Given the description of an element on the screen output the (x, y) to click on. 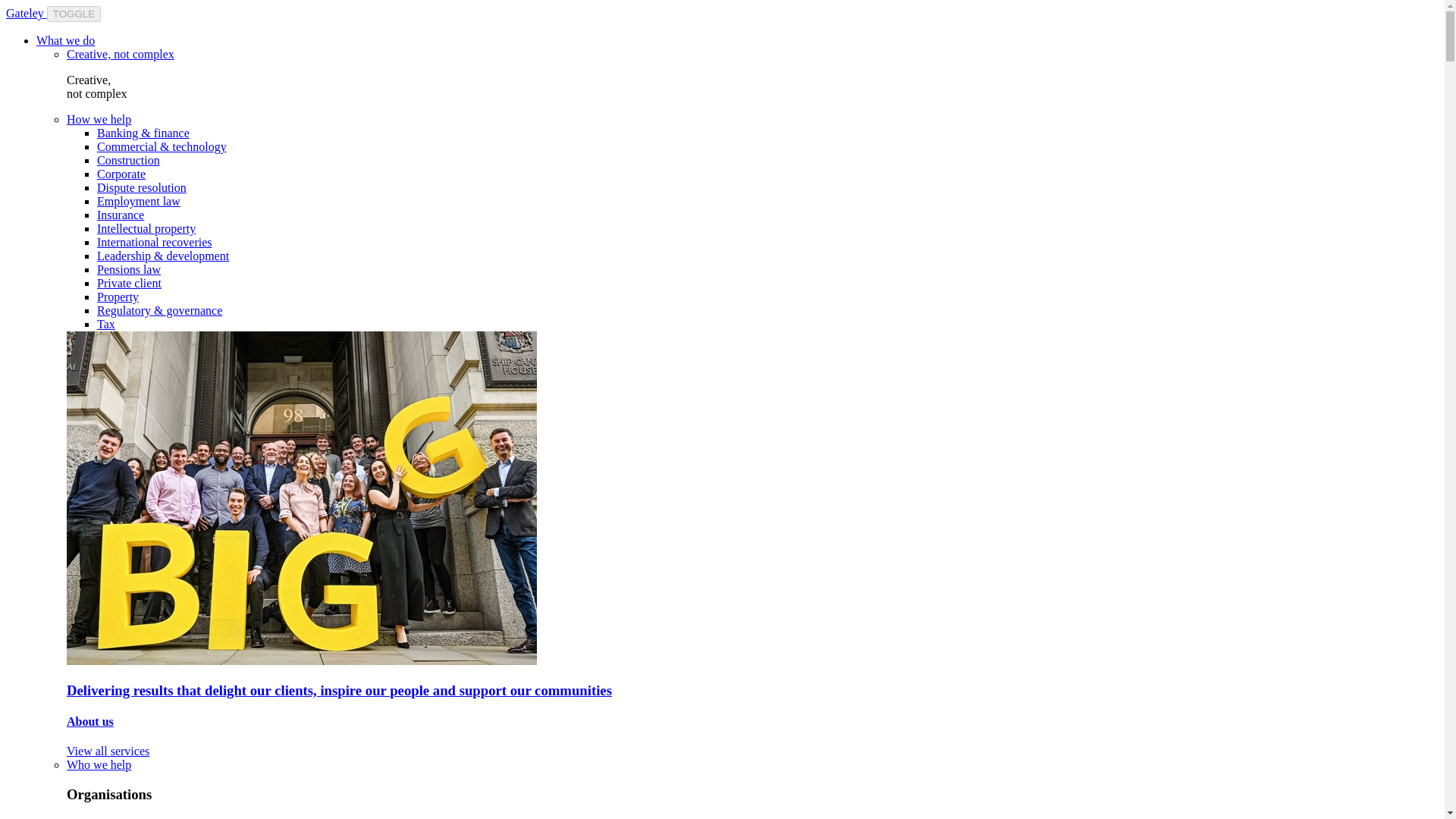
View all services (107, 750)
Corporate (121, 173)
Creative, not complex (120, 53)
What we do (65, 40)
Who we help (98, 764)
Pensions law (128, 269)
Gateley (25, 12)
How we help (98, 119)
Private client (129, 282)
International recoveries (154, 241)
